Given the description of an element on the screen output the (x, y) to click on. 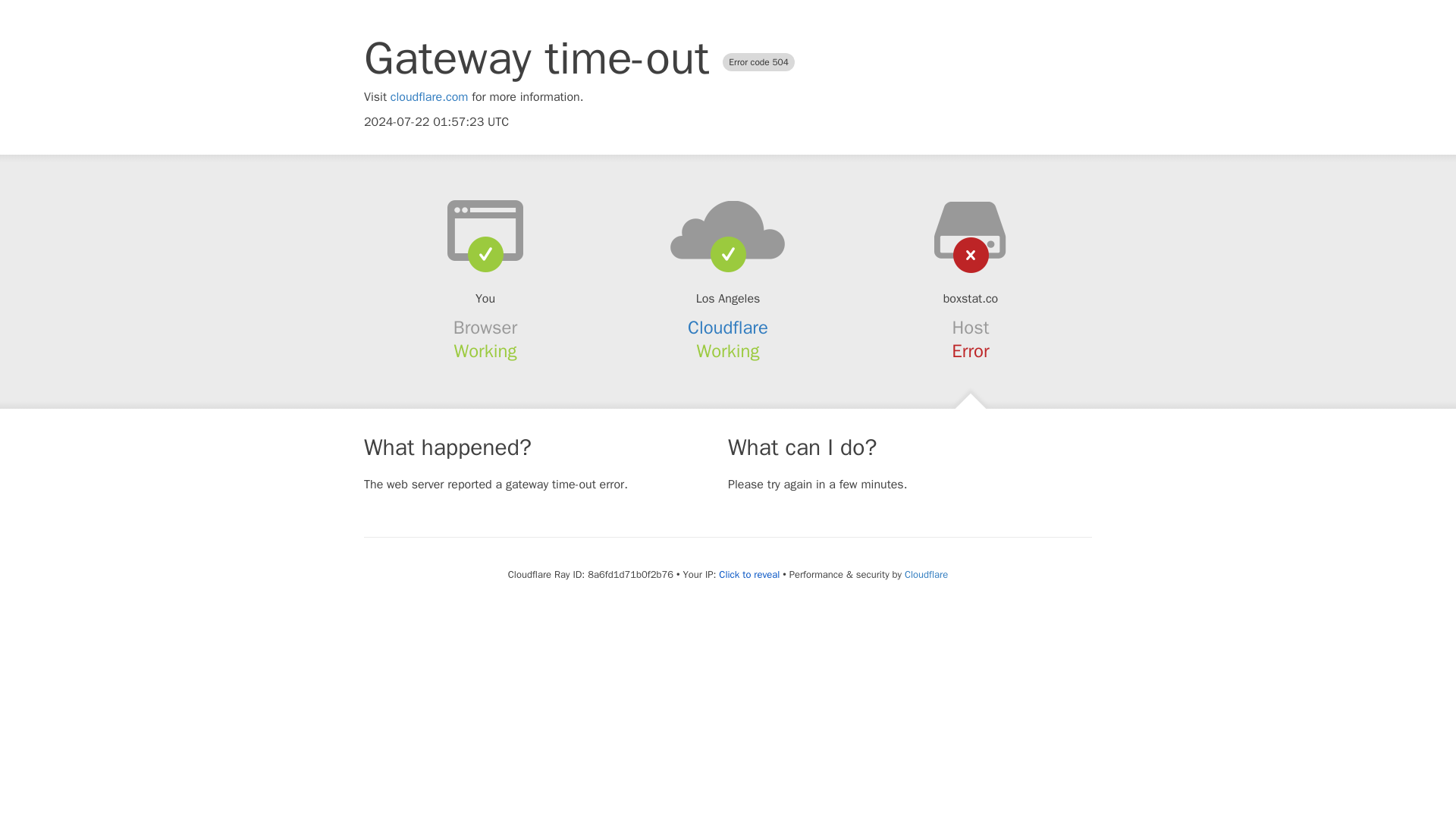
Click to reveal (748, 574)
Cloudflare (925, 574)
cloudflare.com (429, 96)
Cloudflare (727, 327)
